Given the description of an element on the screen output the (x, y) to click on. 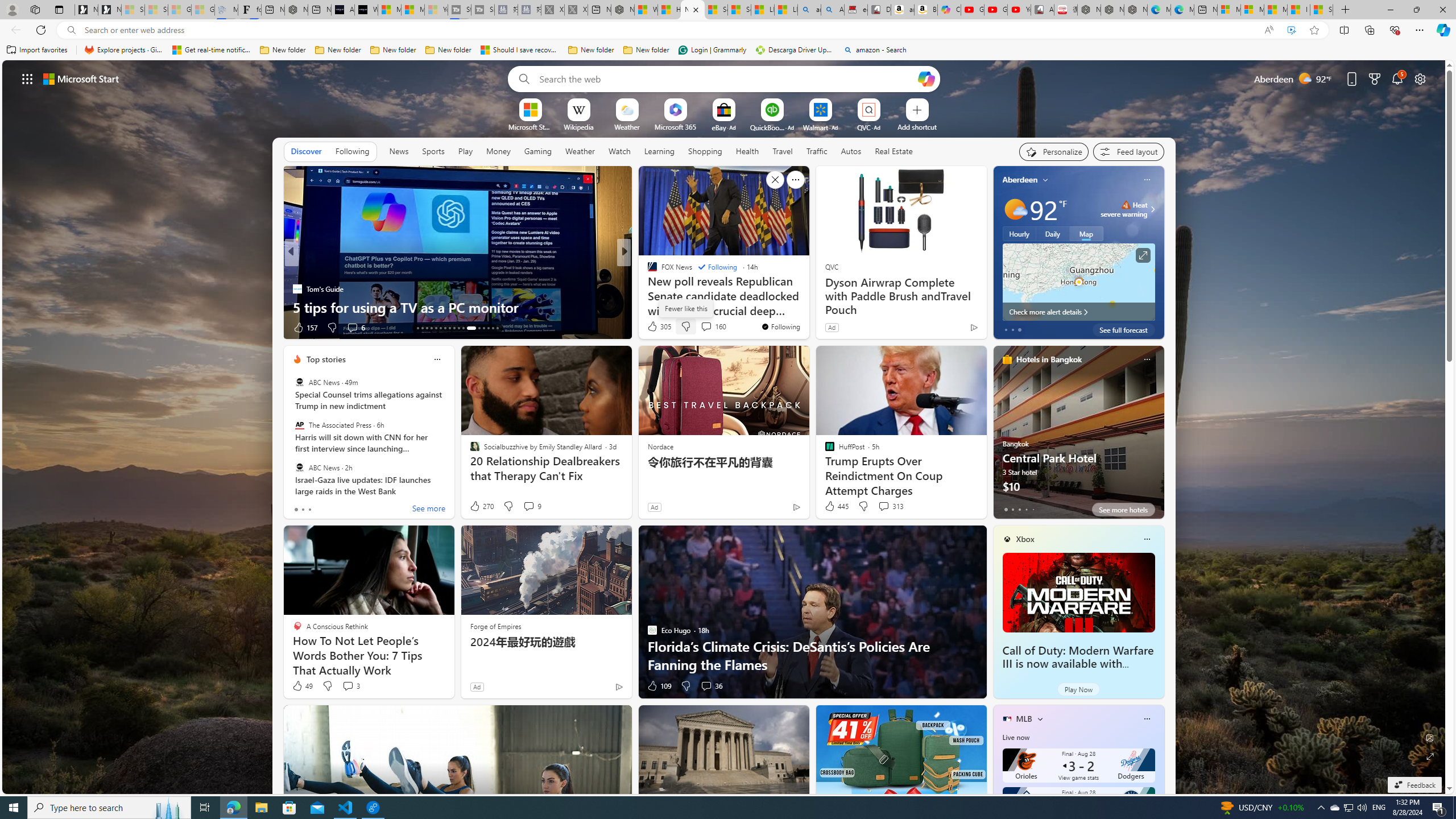
Hide this story (774, 179)
Gaming (537, 151)
Sports (432, 151)
I Gained 20 Pounds of Muscle in 30 Days! | Watch (1298, 9)
View comments 1k Comment (698, 327)
X - Sleeping (575, 9)
tab-3 (1025, 509)
Daily (1052, 233)
Reuters (647, 270)
View comments 3 Comment (347, 685)
AutomationID: tab-20 (449, 328)
Shopping (705, 151)
